Given the description of an element on the screen output the (x, y) to click on. 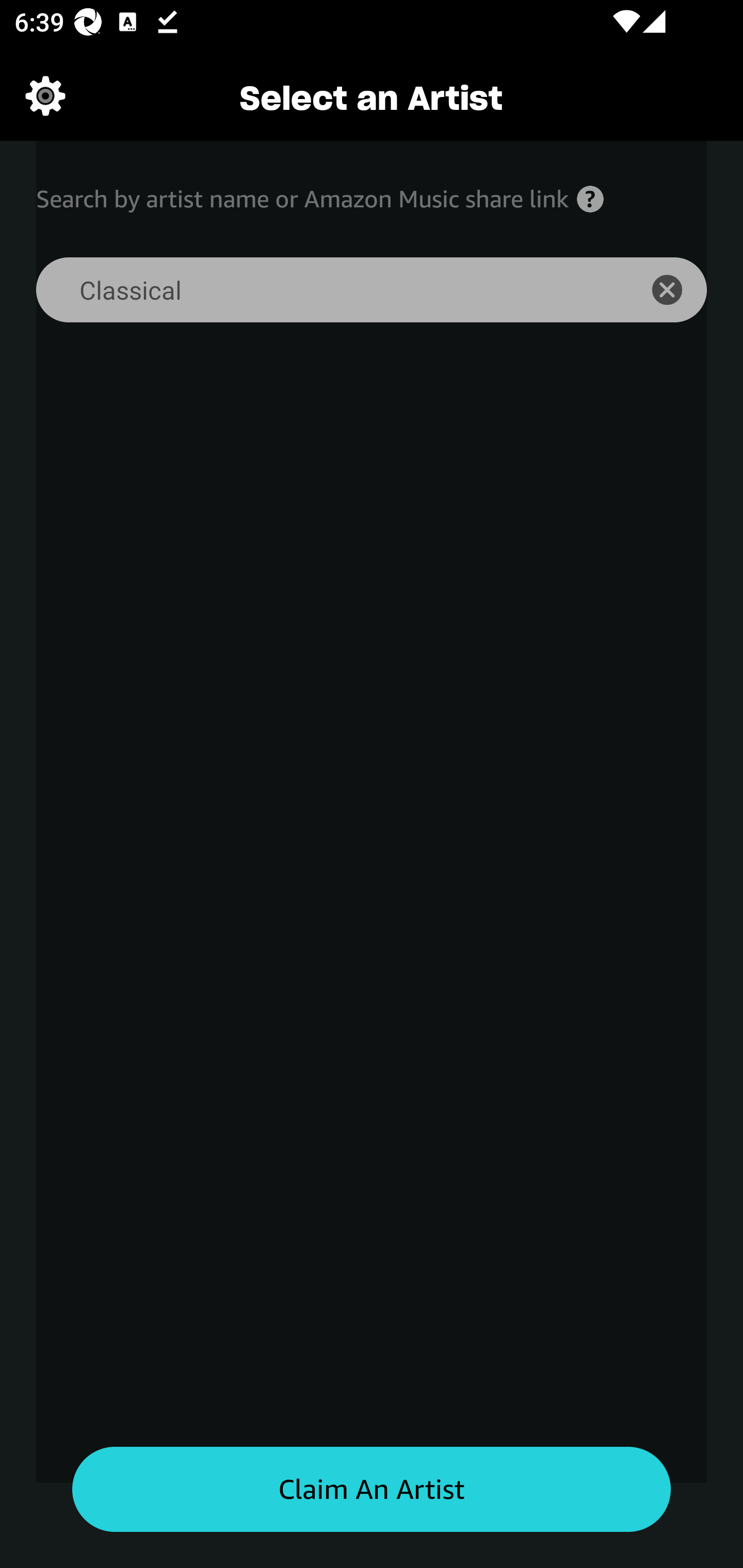
Help  icon (589, 199)
Classical Search for an artist search bar (324, 290)
 icon (677, 290)
Claim an artist button Claim An Artist (371, 1489)
